Given the description of an element on the screen output the (x, y) to click on. 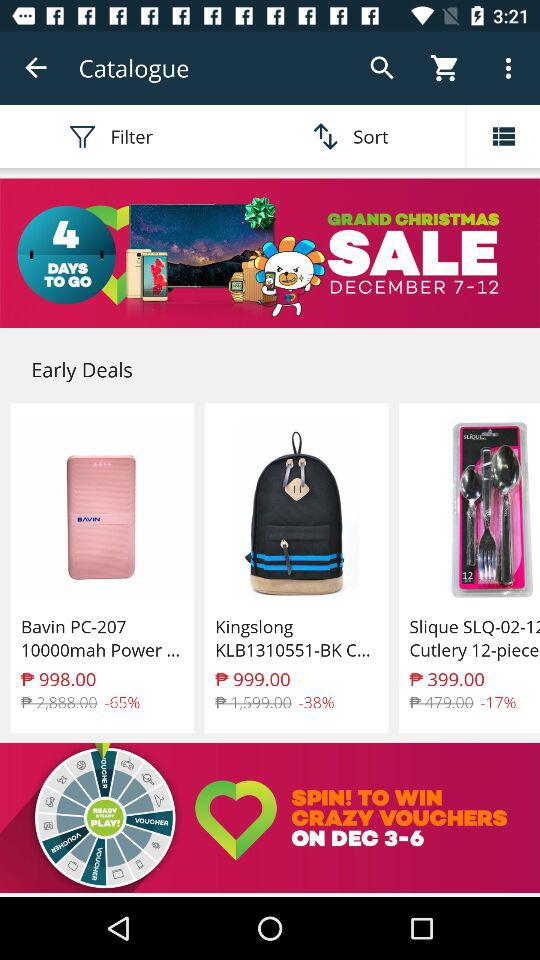
change view type (503, 136)
